Given the description of an element on the screen output the (x, y) to click on. 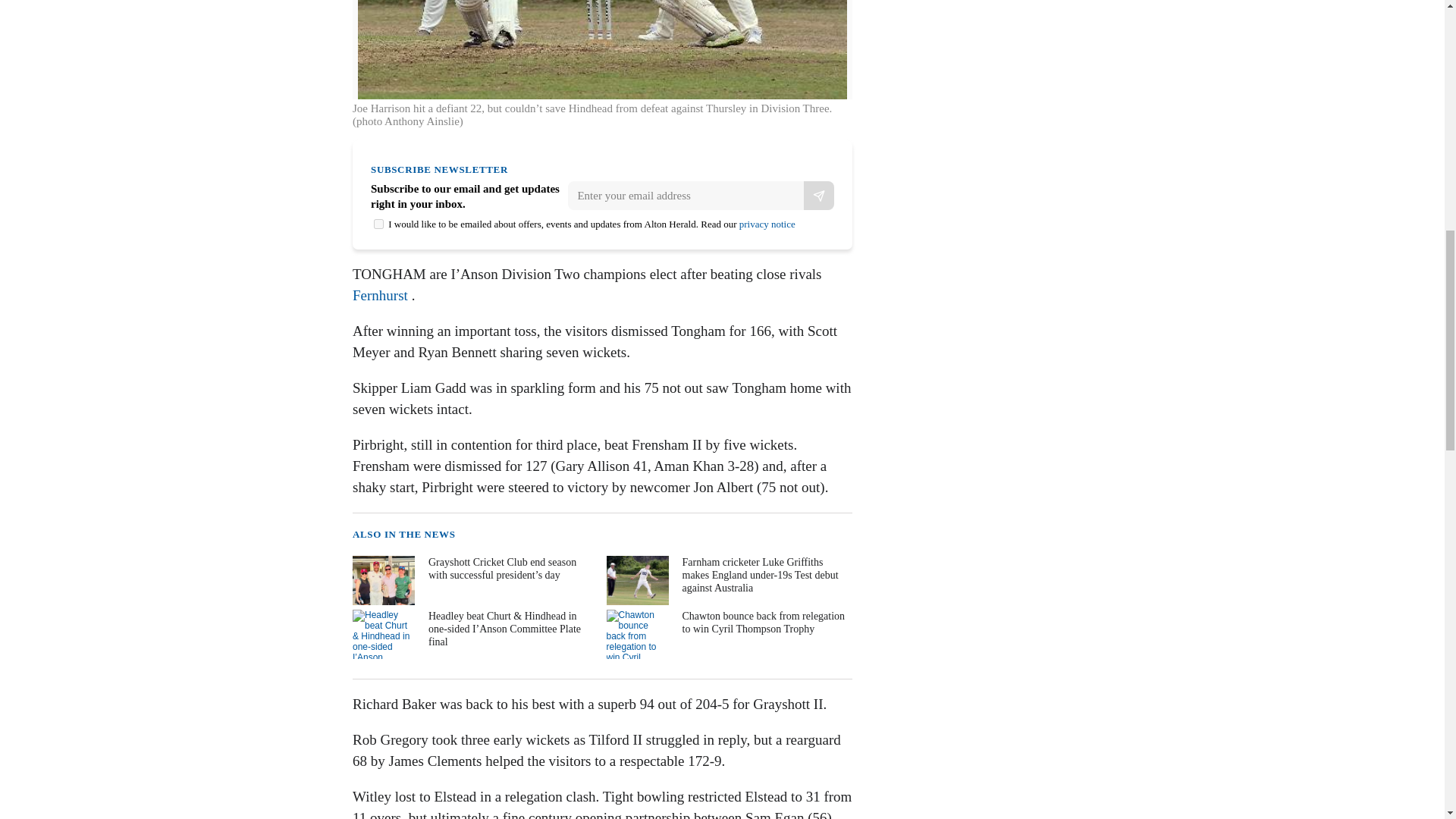
Fernhurst (379, 295)
privacy notice (766, 224)
on (379, 224)
